Given the description of an element on the screen output the (x, y) to click on. 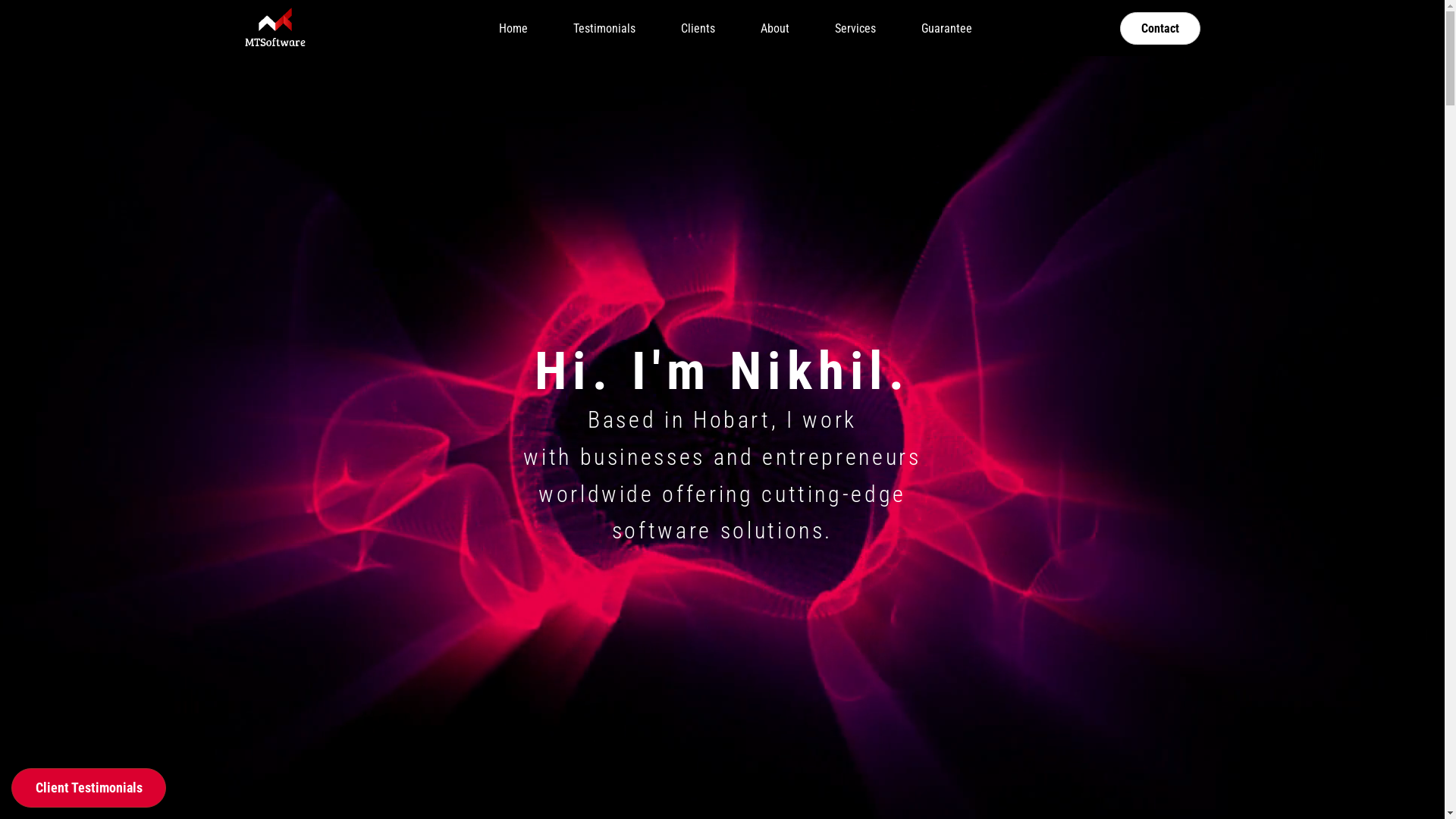
Guarantee Element type: text (945, 28)
Services Element type: text (854, 28)
Clients Element type: text (697, 28)
Home Element type: text (513, 28)
Testimonials Element type: text (604, 28)
Contact Element type: text (1159, 28)
About Element type: text (774, 28)
